Given the description of an element on the screen output the (x, y) to click on. 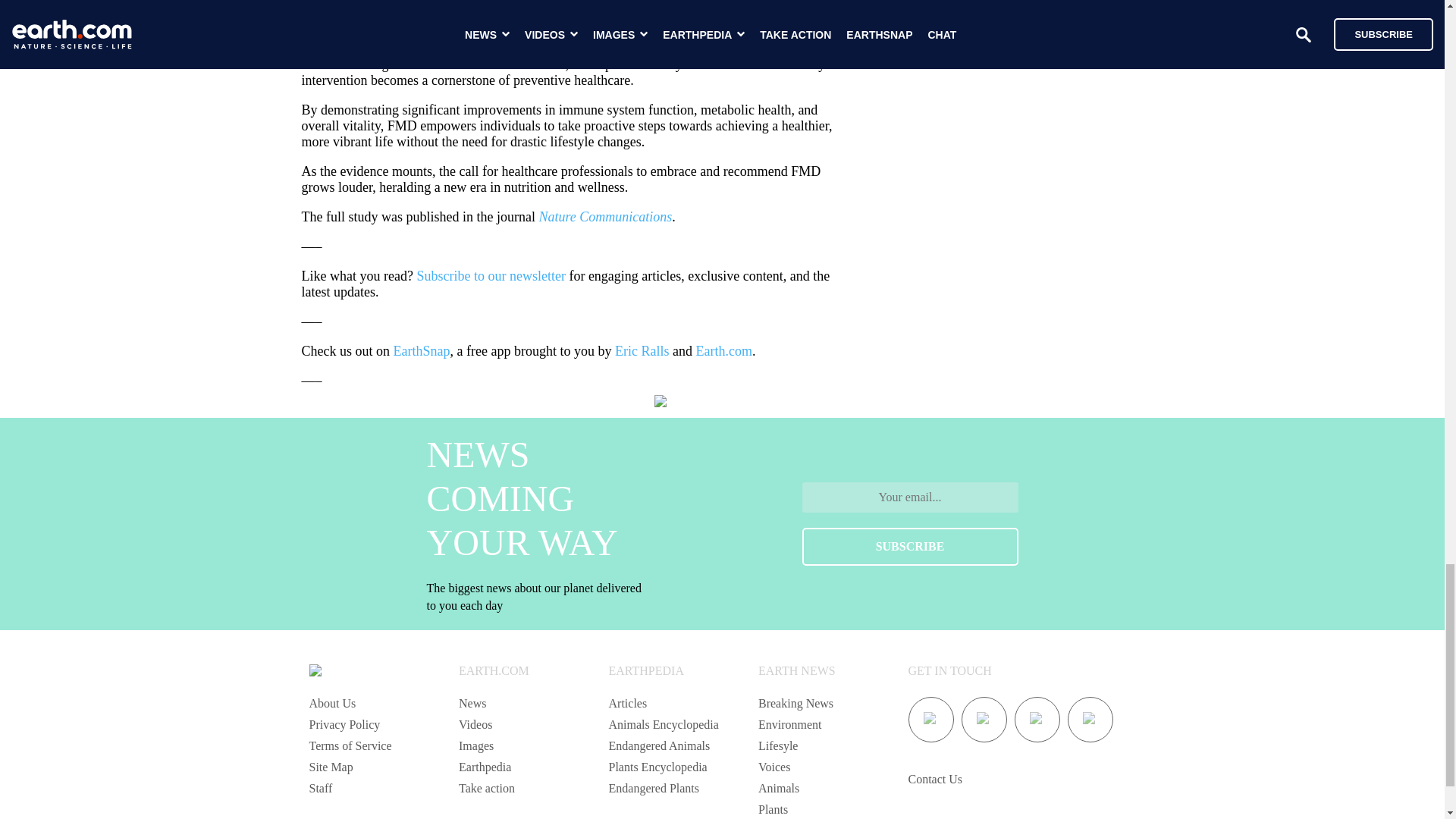
Earth.com (723, 350)
EarthSnap (421, 350)
Subscribe to our newsletter (490, 275)
Nature Communications (604, 216)
Eric Ralls (641, 350)
chronic diseases (590, 34)
